Given the description of an element on the screen output the (x, y) to click on. 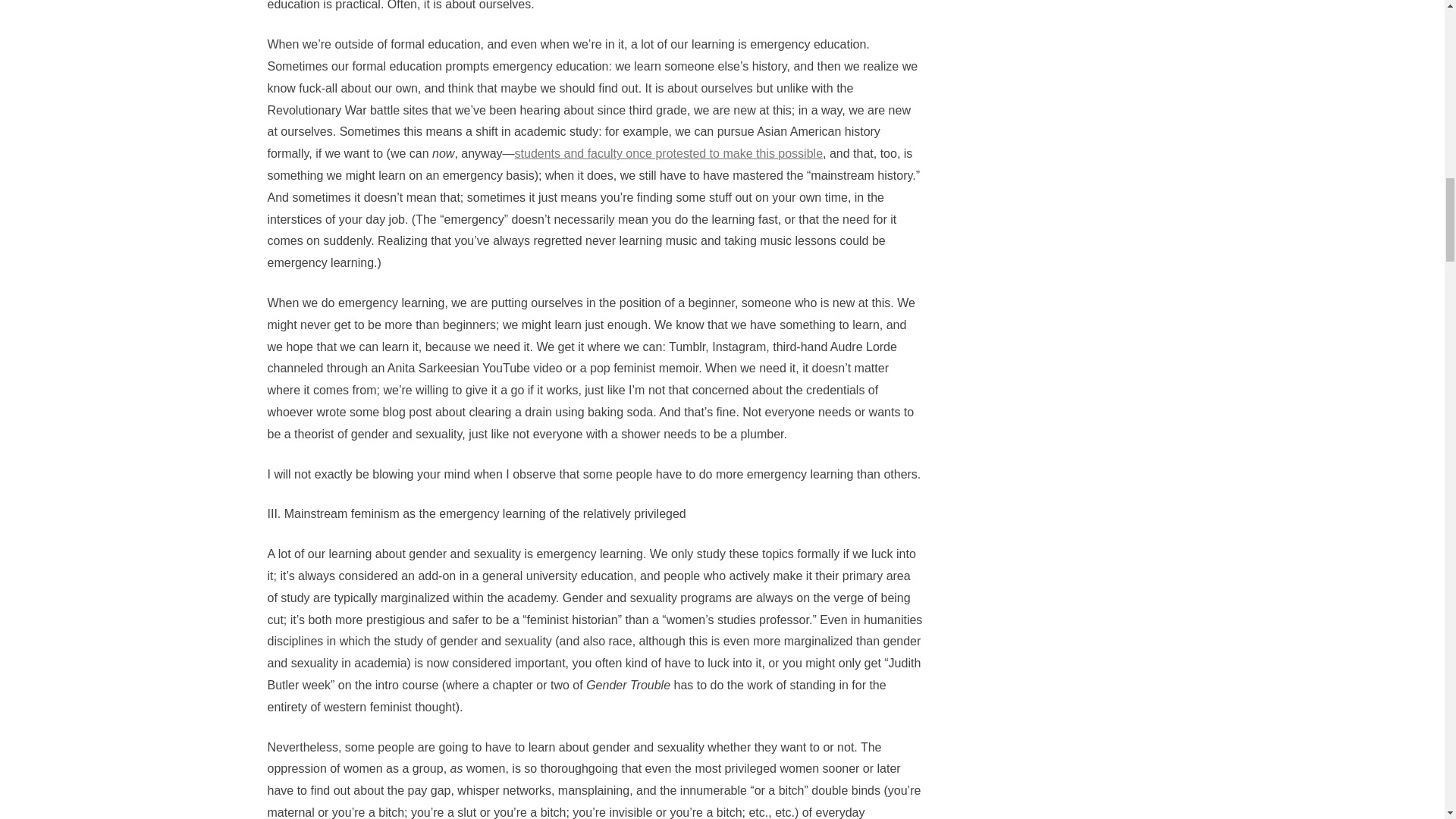
students and faculty once protested to make this possible (668, 153)
